Given the description of an element on the screen output the (x, y) to click on. 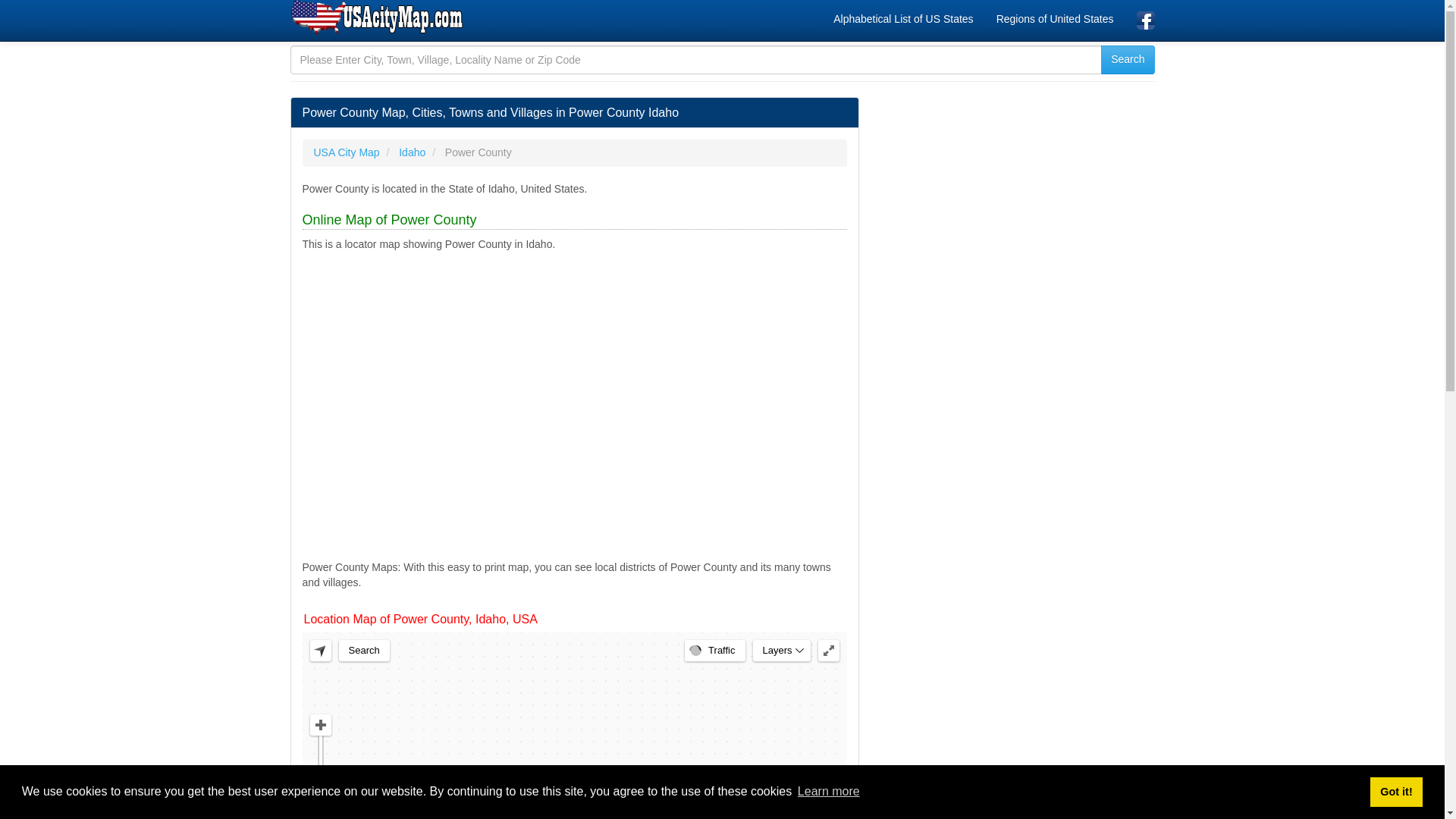
Search (1127, 59)
Search (362, 649)
Regions of United States (1055, 18)
USA City Map (347, 152)
Idaho (411, 152)
USA City Map (378, 18)
Learn more (827, 791)
Regions of United States (1055, 18)
Alphabetical List of US States (903, 18)
Alphabetical List of US States (903, 18)
Search (1127, 59)
Got it! (1396, 791)
Detect your current location (319, 649)
